Given the description of an element on the screen output the (x, y) to click on. 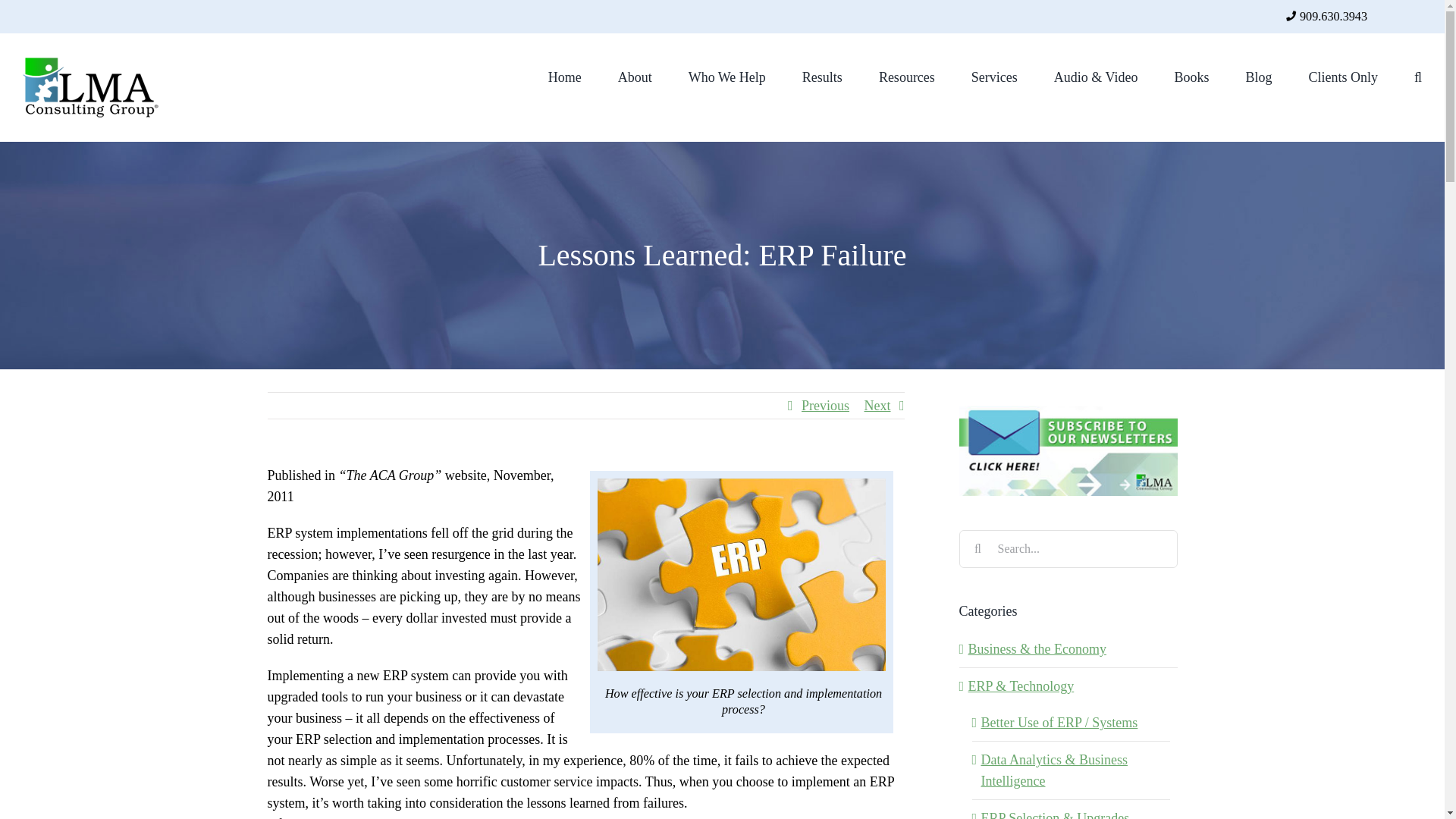
Next (877, 405)
Previous (825, 405)
Who We Help (726, 75)
909.630.3943 (1333, 16)
